Given the description of an element on the screen output the (x, y) to click on. 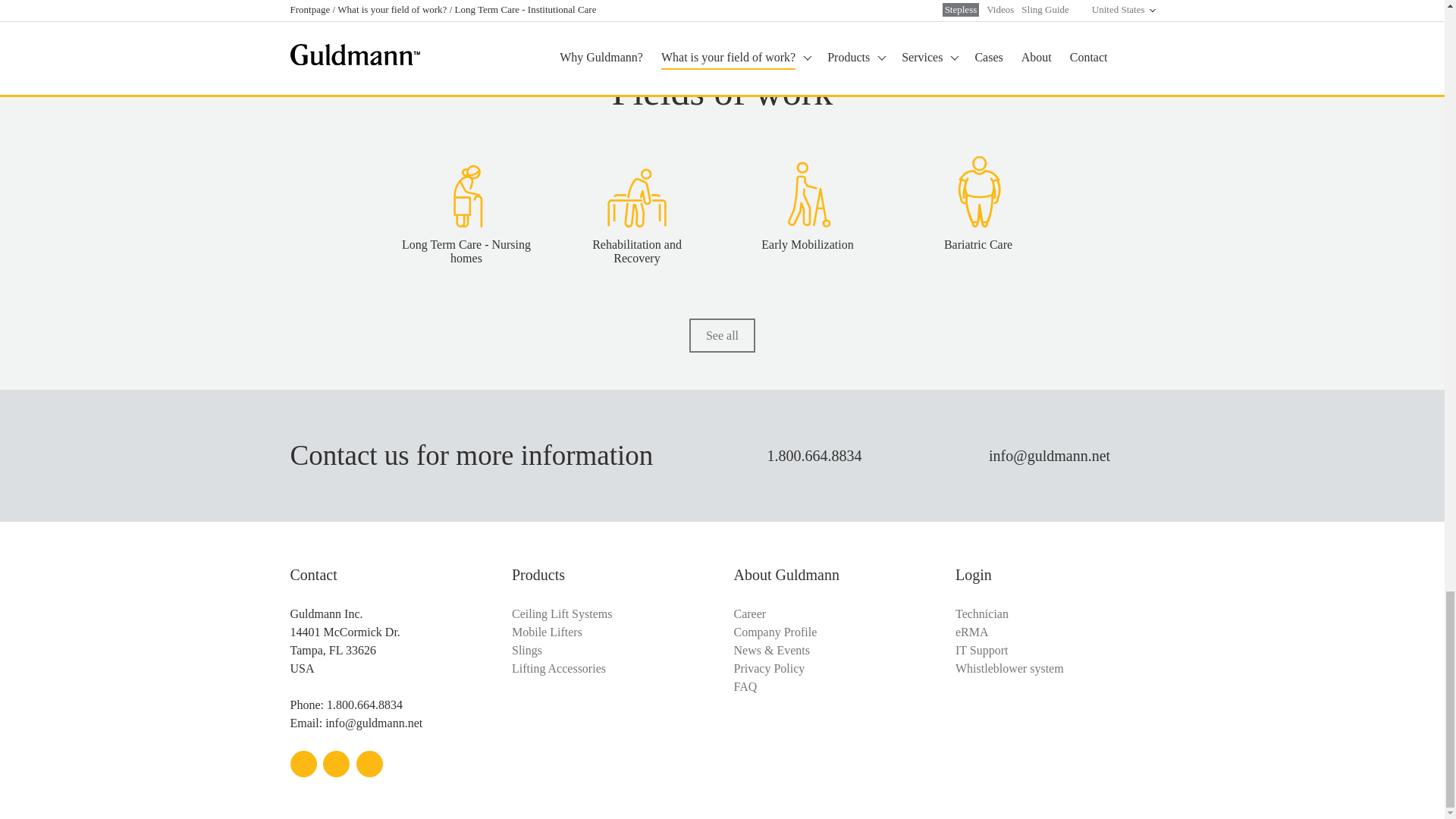
Social (302, 764)
Social (336, 764)
Social (369, 764)
